Given the description of an element on the screen output the (x, y) to click on. 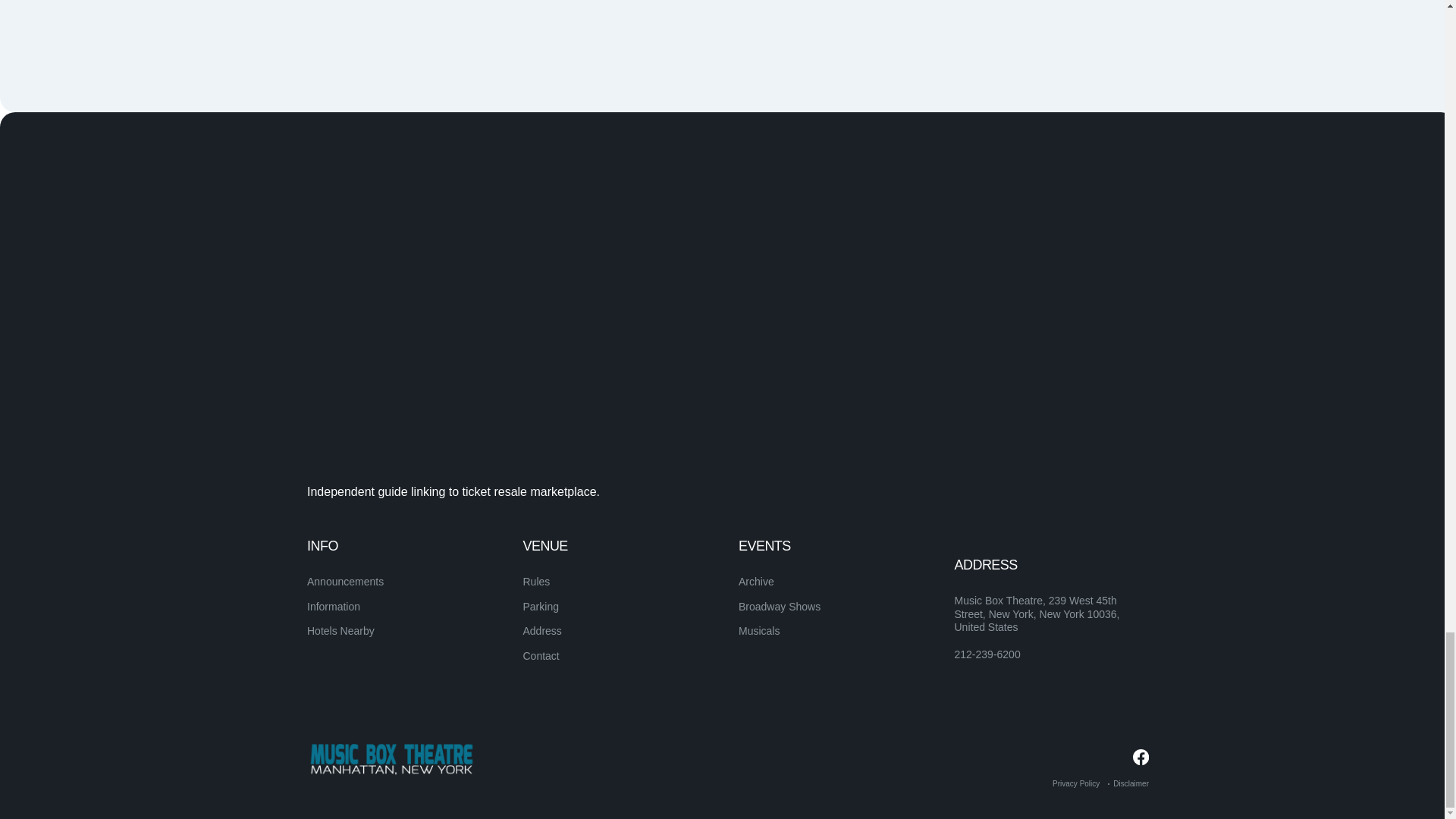
Announcements (345, 581)
SUBSCRIBE (1095, 574)
Broadway Shows (779, 606)
Hotels Nearby (340, 630)
Archive (756, 581)
Address (542, 630)
212-239-6200 (986, 654)
Privacy Policy (1075, 783)
Information (333, 606)
Disclaimer (1130, 783)
